Given the description of an element on the screen output the (x, y) to click on. 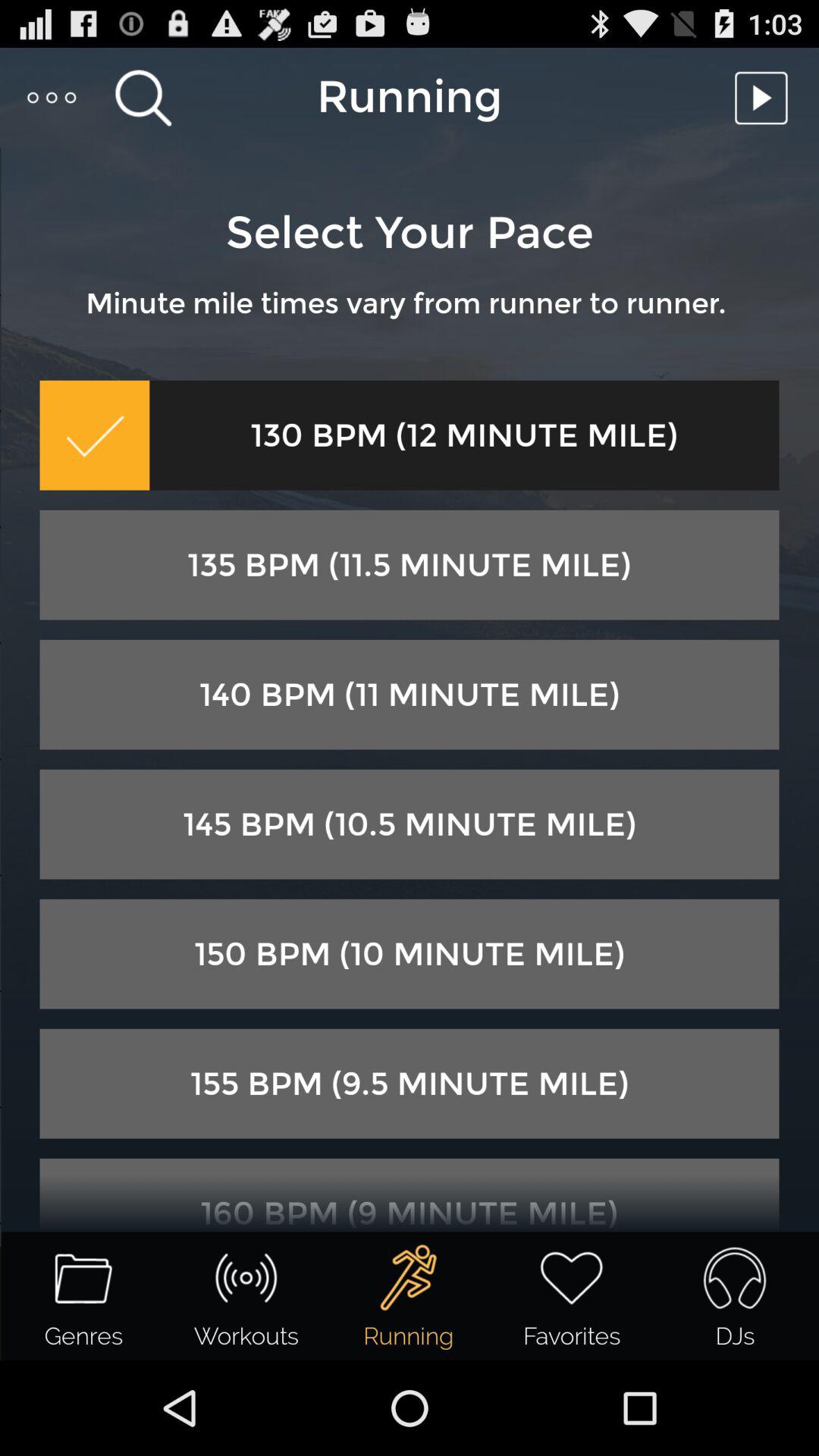
search icon (142, 97)
